Given the description of an element on the screen output the (x, y) to click on. 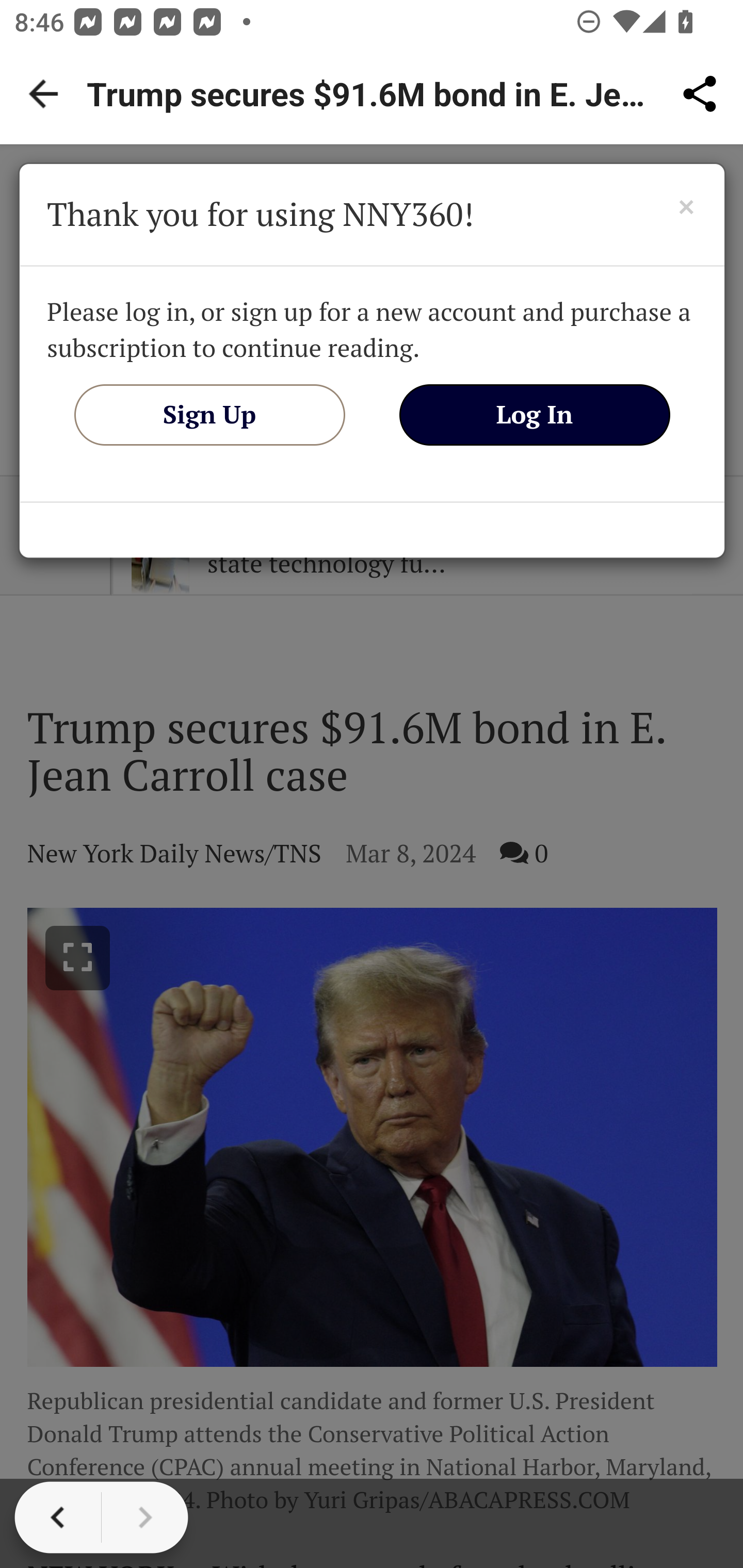
Sign Up (209, 413)
Log In (534, 413)
